Given the description of an element on the screen output the (x, y) to click on. 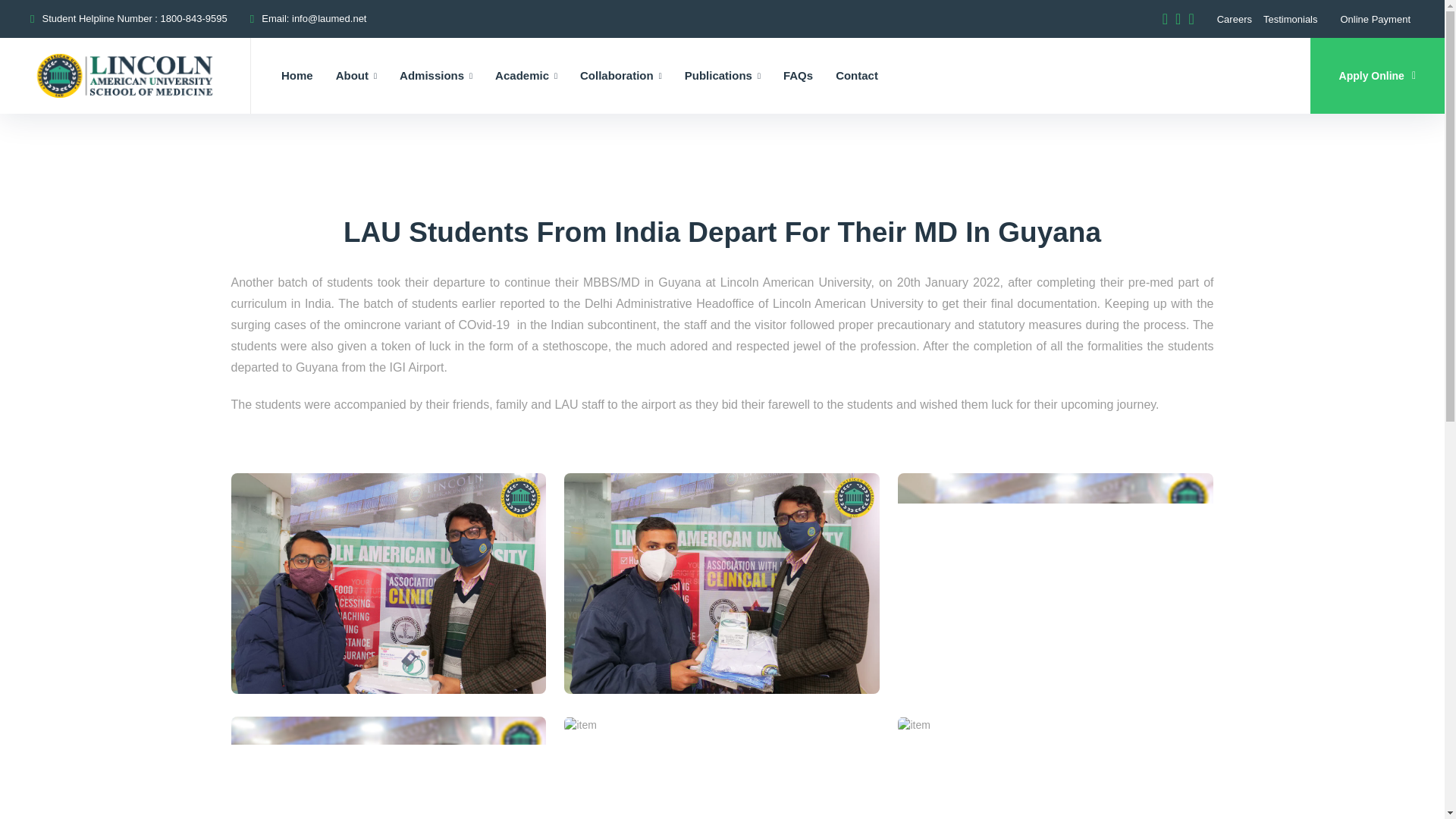
Testimonials (1290, 19)
Online Payment (1377, 18)
Careers (1234, 19)
Admissions (434, 75)
Collaboration (620, 75)
1800-843-9595 (193, 18)
